Given the description of an element on the screen output the (x, y) to click on. 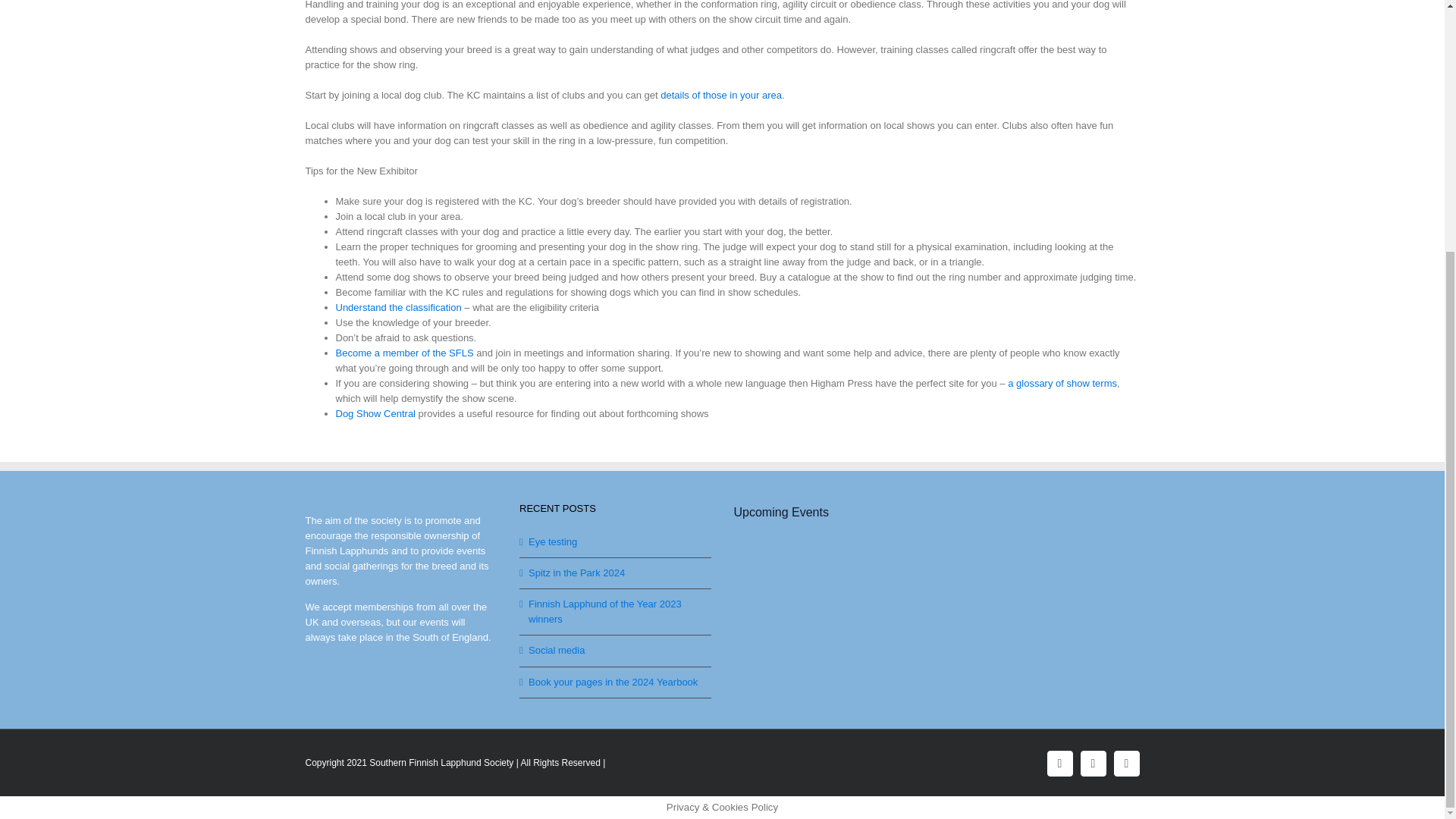
WhatsApp (1125, 763)
Facebook (1058, 763)
Instagram (1092, 763)
